Given the description of an element on the screen output the (x, y) to click on. 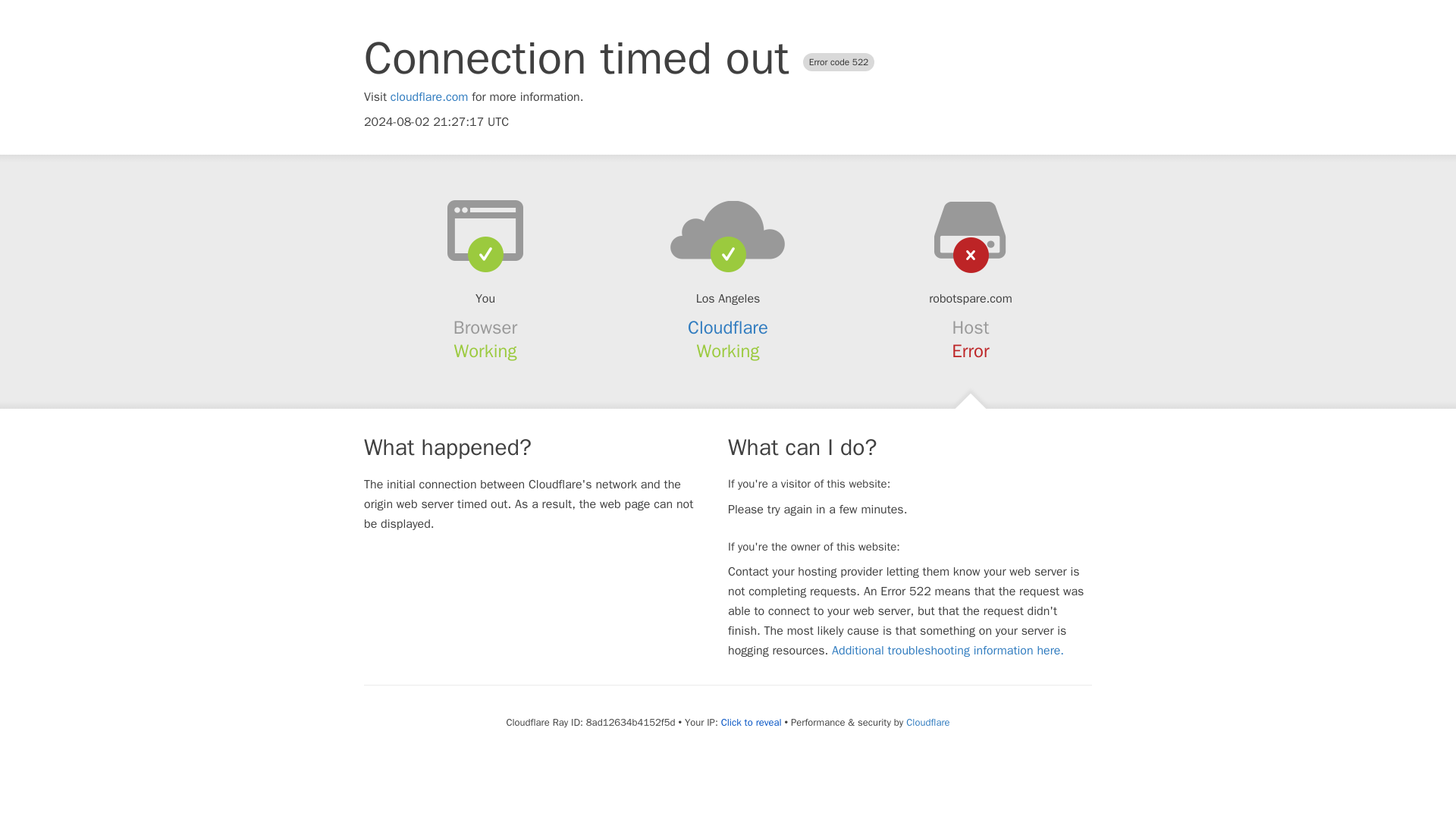
Click to reveal (750, 722)
cloudflare.com (429, 96)
Cloudflare (927, 721)
Cloudflare (727, 327)
Additional troubleshooting information here. (947, 650)
